Given the description of an element on the screen output the (x, y) to click on. 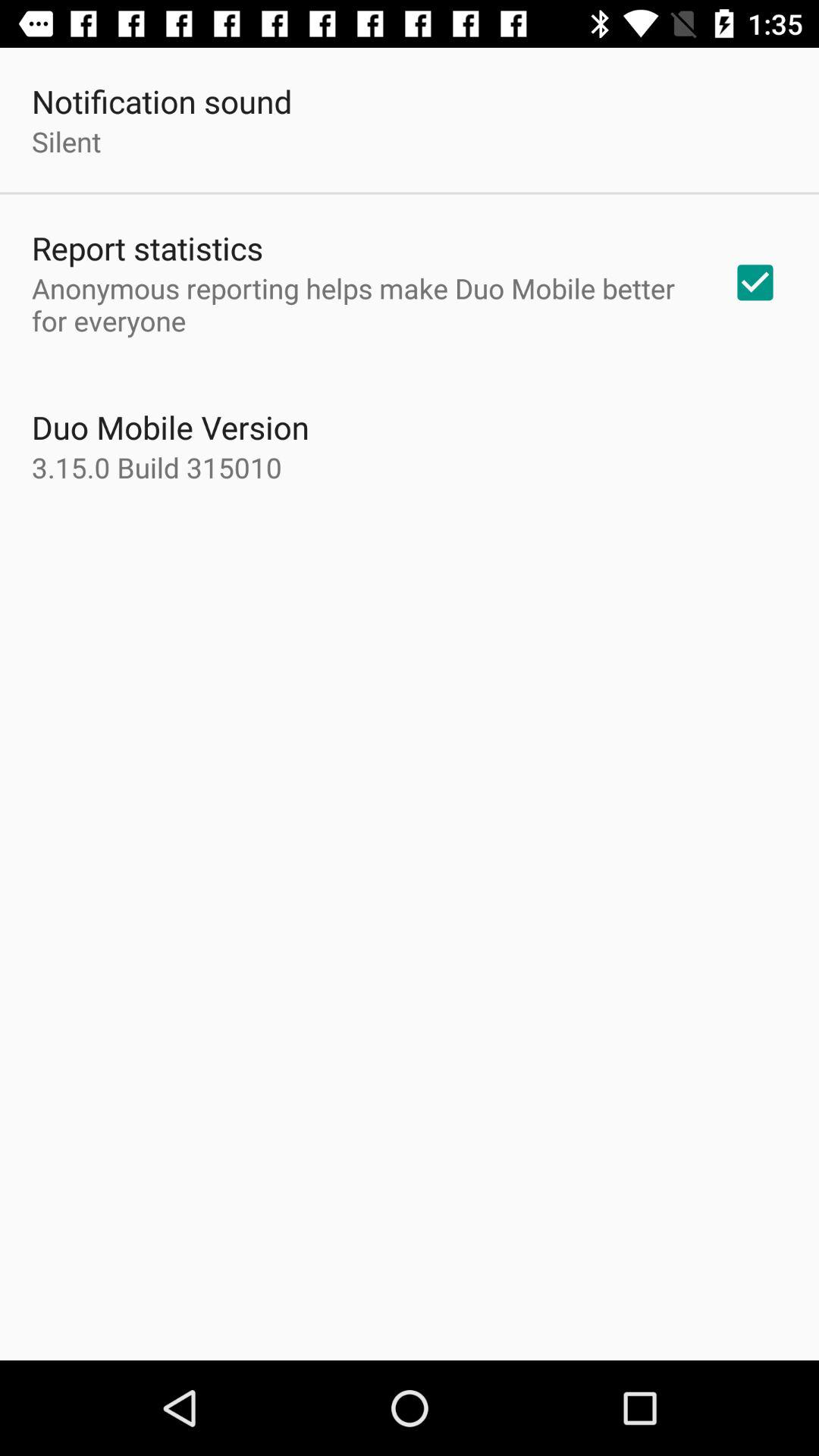
press the anonymous reporting helps app (361, 304)
